Given the description of an element on the screen output the (x, y) to click on. 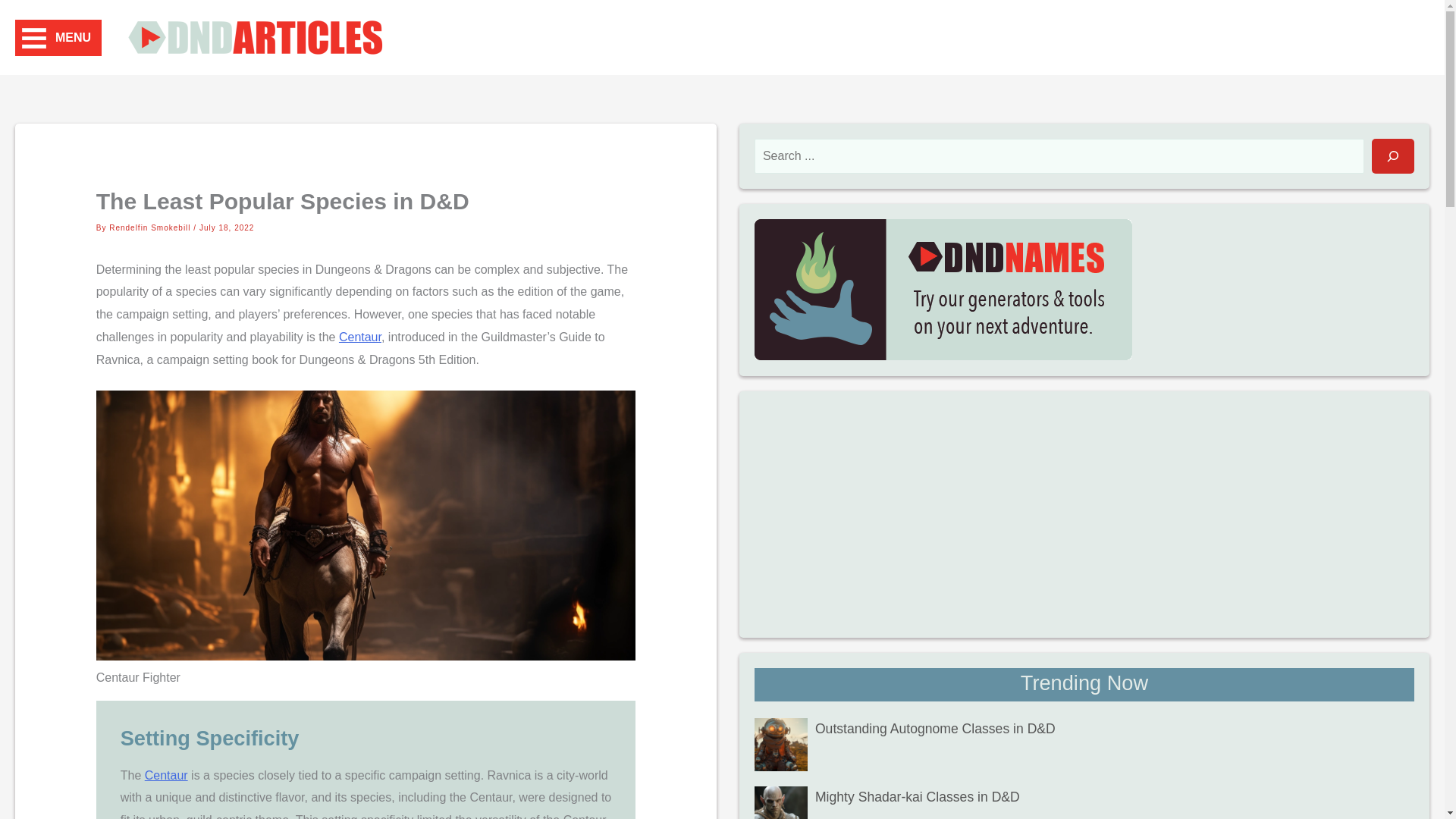
Rendelfin Smokebill (151, 227)
MENU (57, 37)
View all posts by Rendelfin Smokebill (151, 227)
Centaur (360, 336)
Centaur (165, 775)
